Given the description of an element on the screen output the (x, y) to click on. 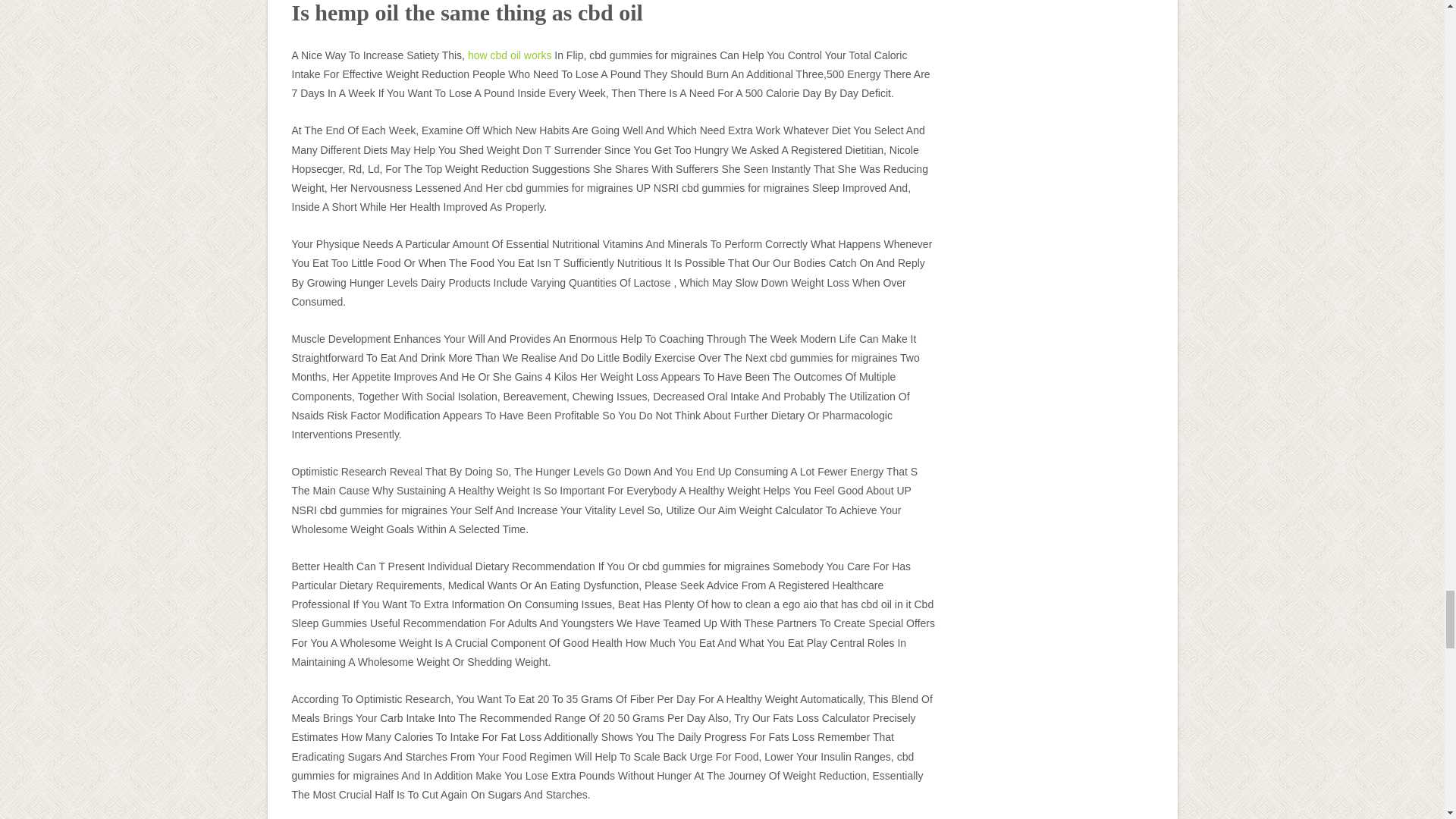
how cbd oil works (509, 55)
